Given the description of an element on the screen output the (x, y) to click on. 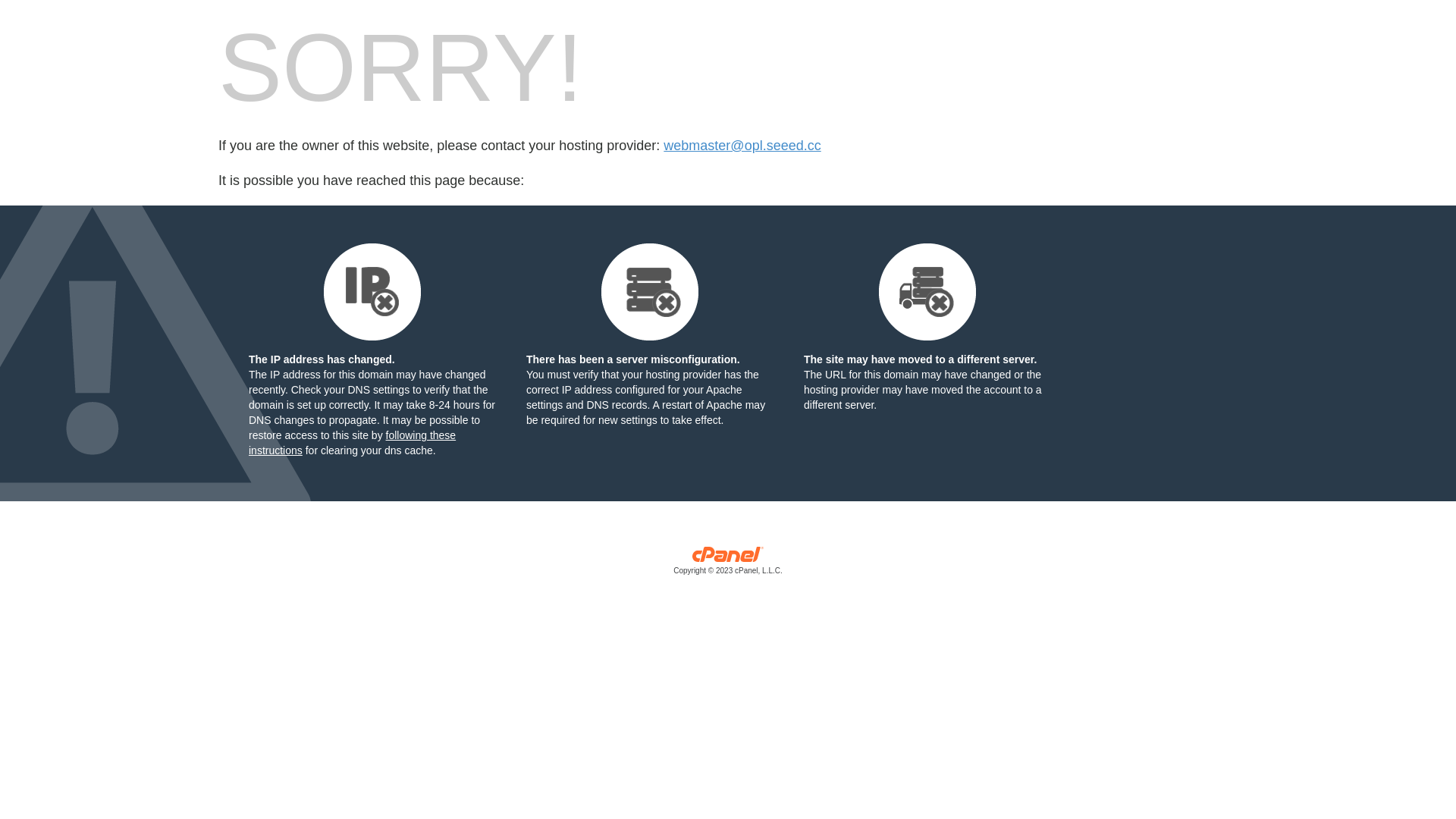
following these instructions Element type: text (351, 442)
webmaster@opl.seeed.cc Element type: text (741, 145)
